Given the description of an element on the screen output the (x, y) to click on. 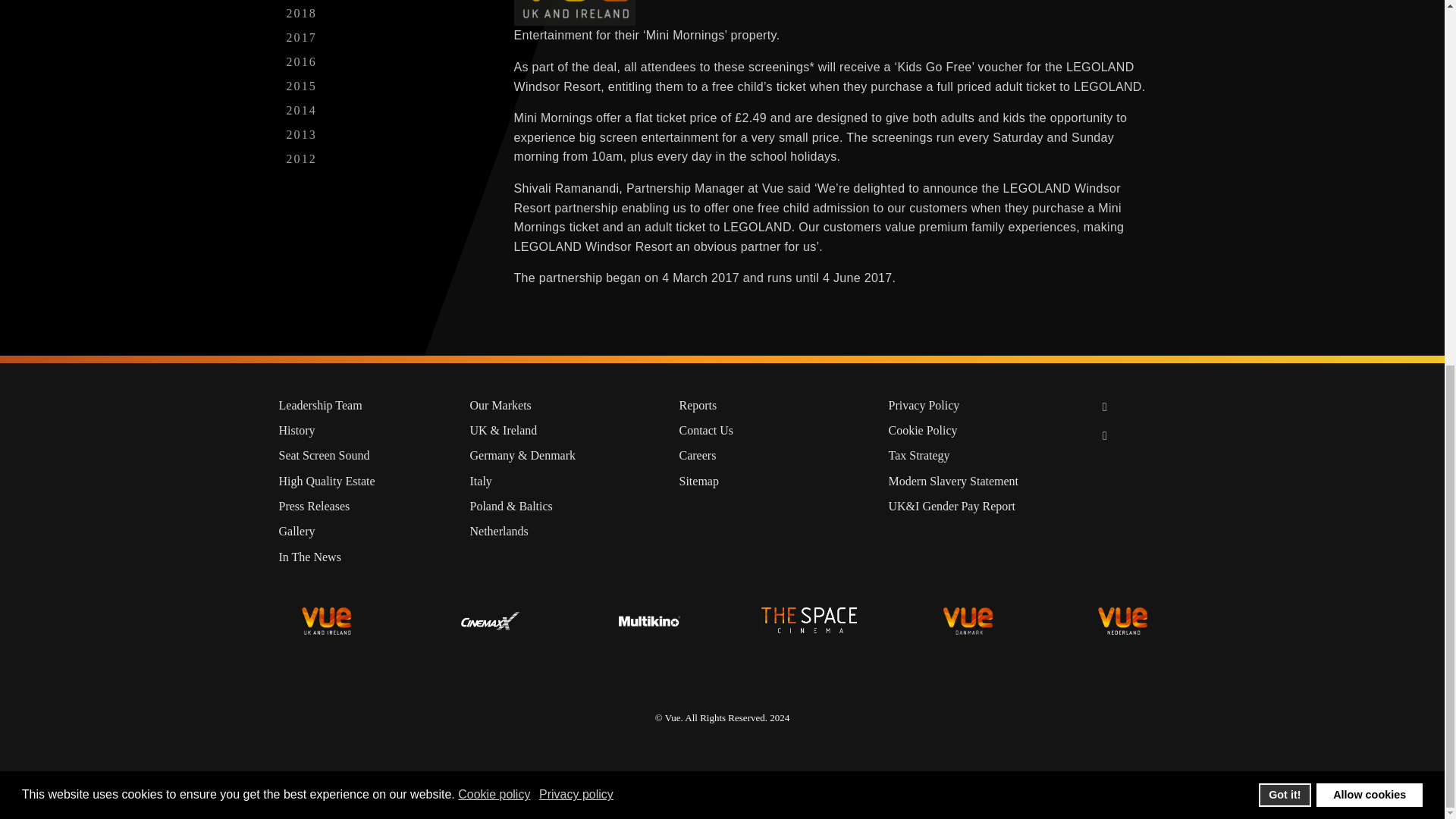
Cookie Policy (981, 430)
VUE - Uk and Ireland (326, 620)
2013 (301, 134)
Netherlands (563, 531)
Leadership Team (362, 405)
2019 (301, 0)
Leadership Team (362, 405)
Italy (563, 480)
2015 (301, 86)
History (362, 430)
Press Releases (362, 505)
2017 (301, 37)
Gallery (362, 531)
2012 (301, 159)
2016 (301, 61)
